Given the description of an element on the screen output the (x, y) to click on. 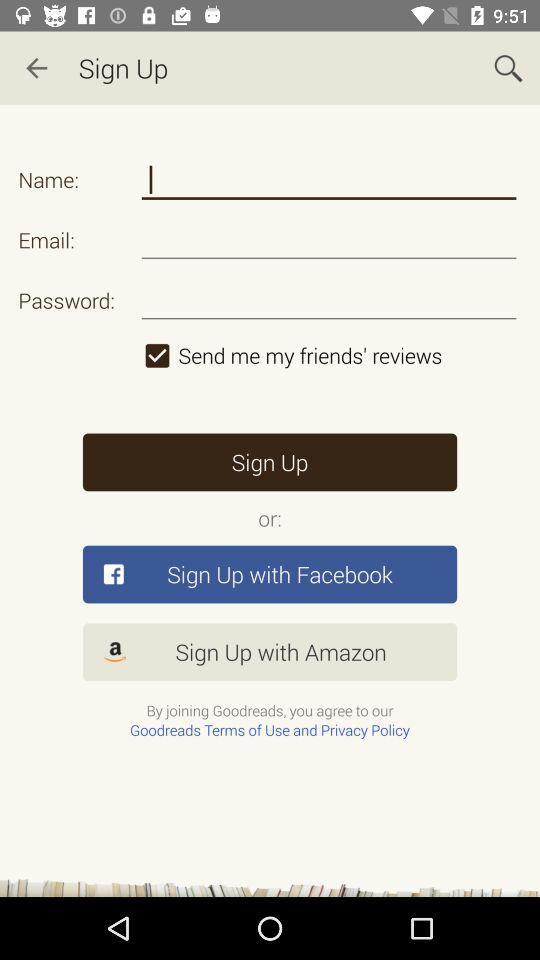
put the name (328, 179)
